Given the description of an element on the screen output the (x, y) to click on. 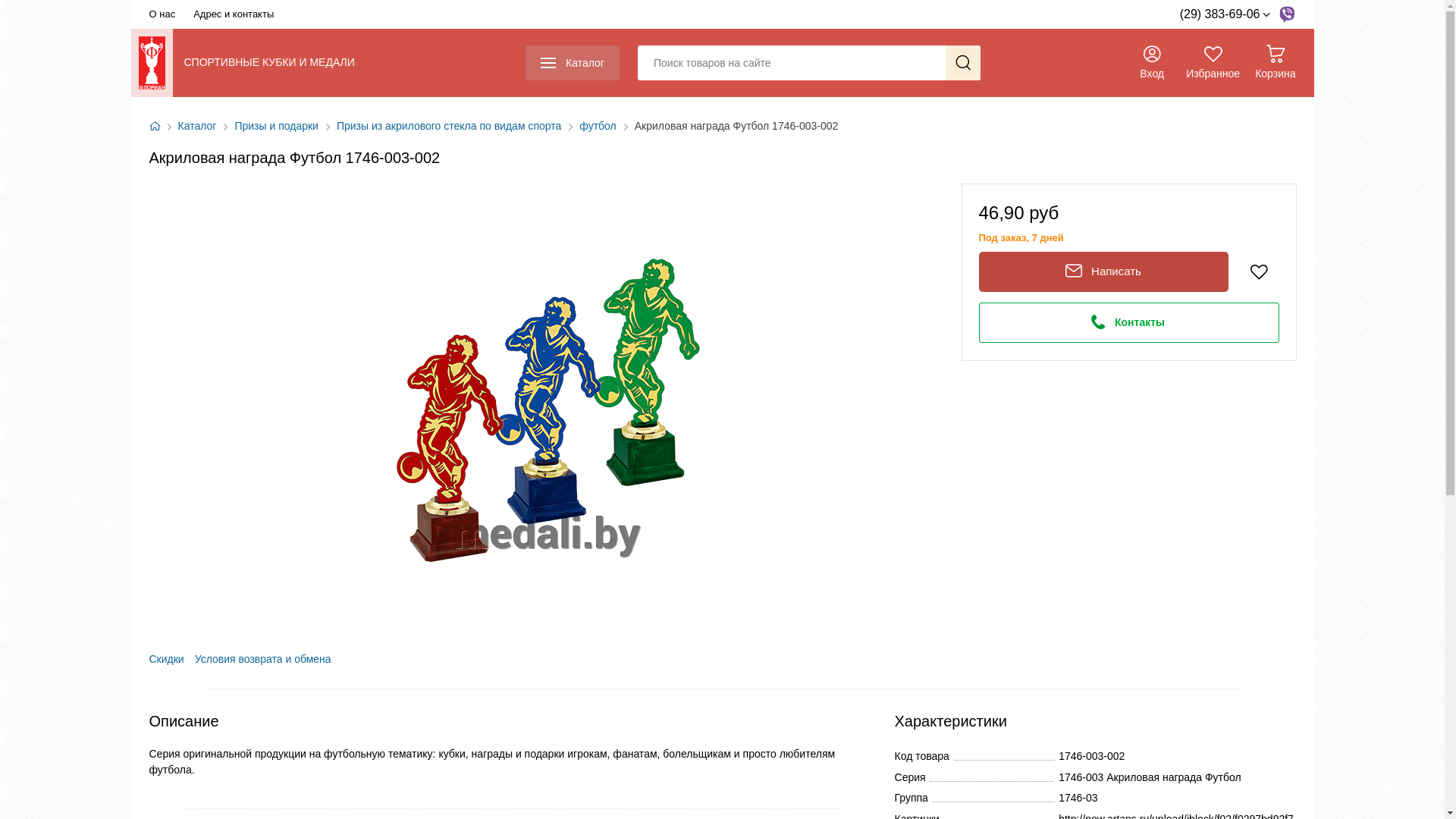
Viber Element type: hover (1286, 14)
(29) 383-69-06 Element type: text (1224, 13)
